Given the description of an element on the screen output the (x, y) to click on. 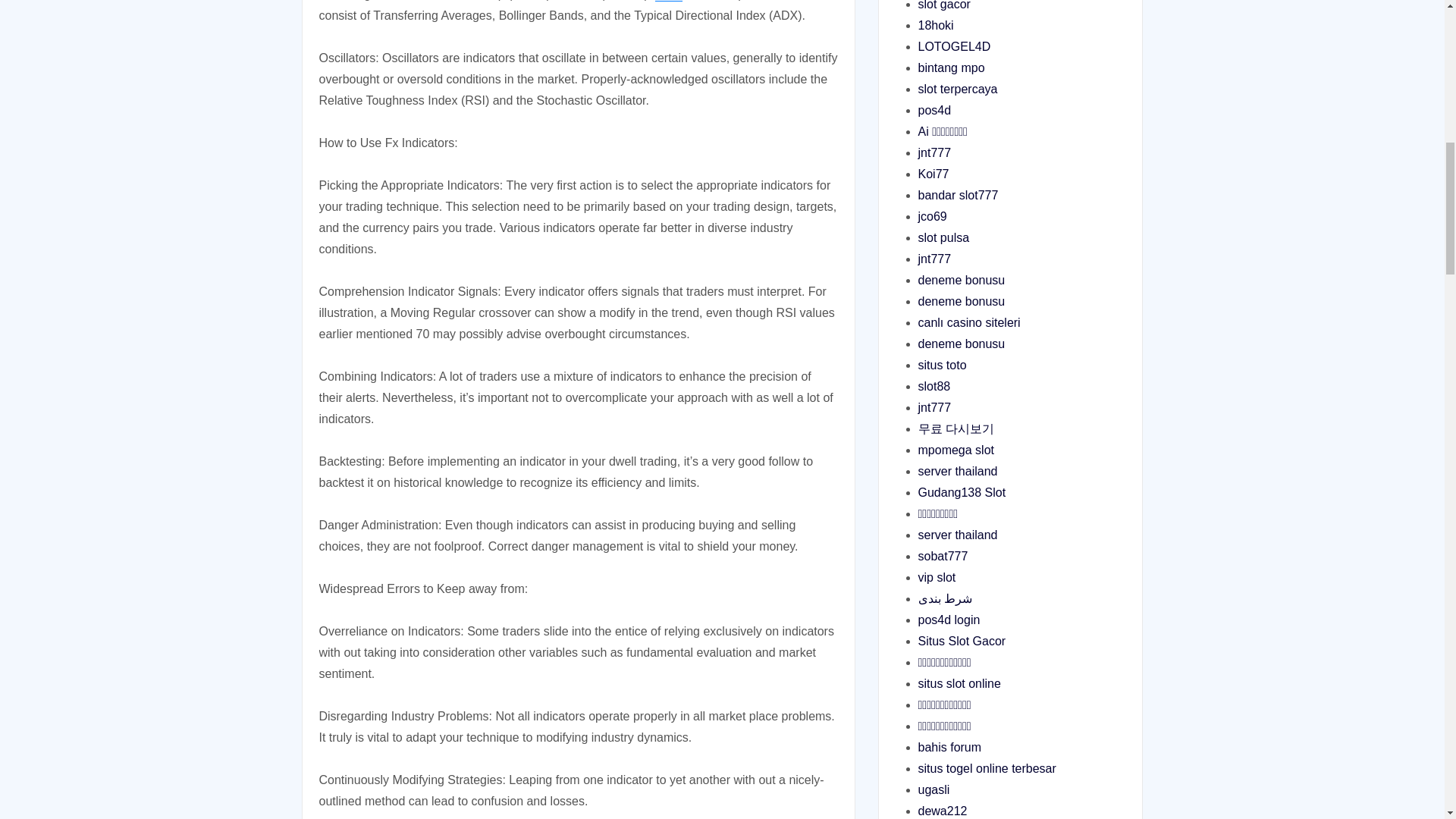
bintang mpo (950, 67)
slot terpercaya (957, 88)
18hoki (935, 24)
LOTOGEL4D (953, 46)
slot gacor (943, 5)
